Given the description of an element on the screen output the (x, y) to click on. 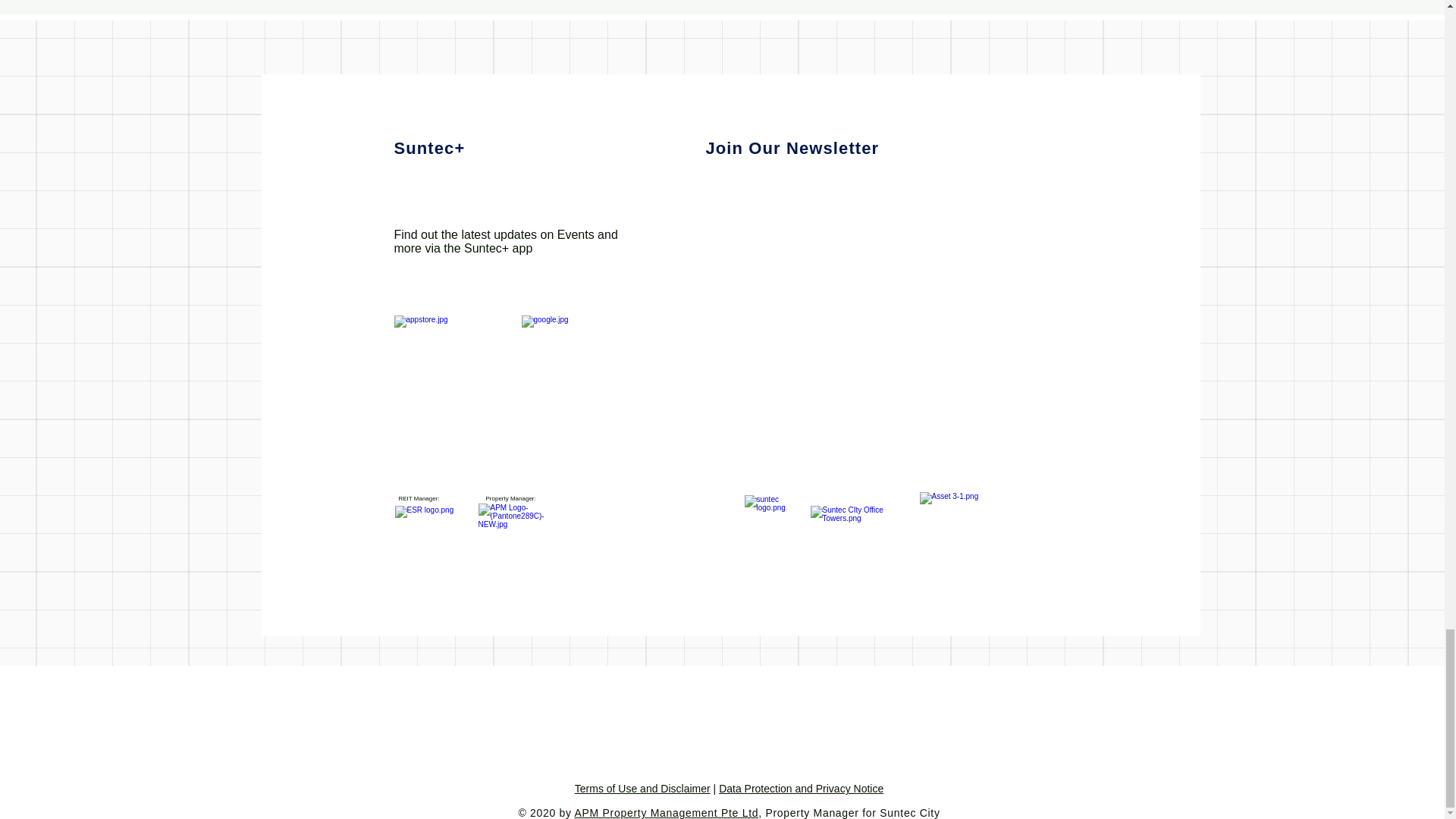
REIT Manager: (418, 498)
Data Protection and Privacy Notice (801, 788)
Terms of Use and Disclaimer (642, 788)
Property Manager: (509, 498)
